Given the description of an element on the screen output the (x, y) to click on. 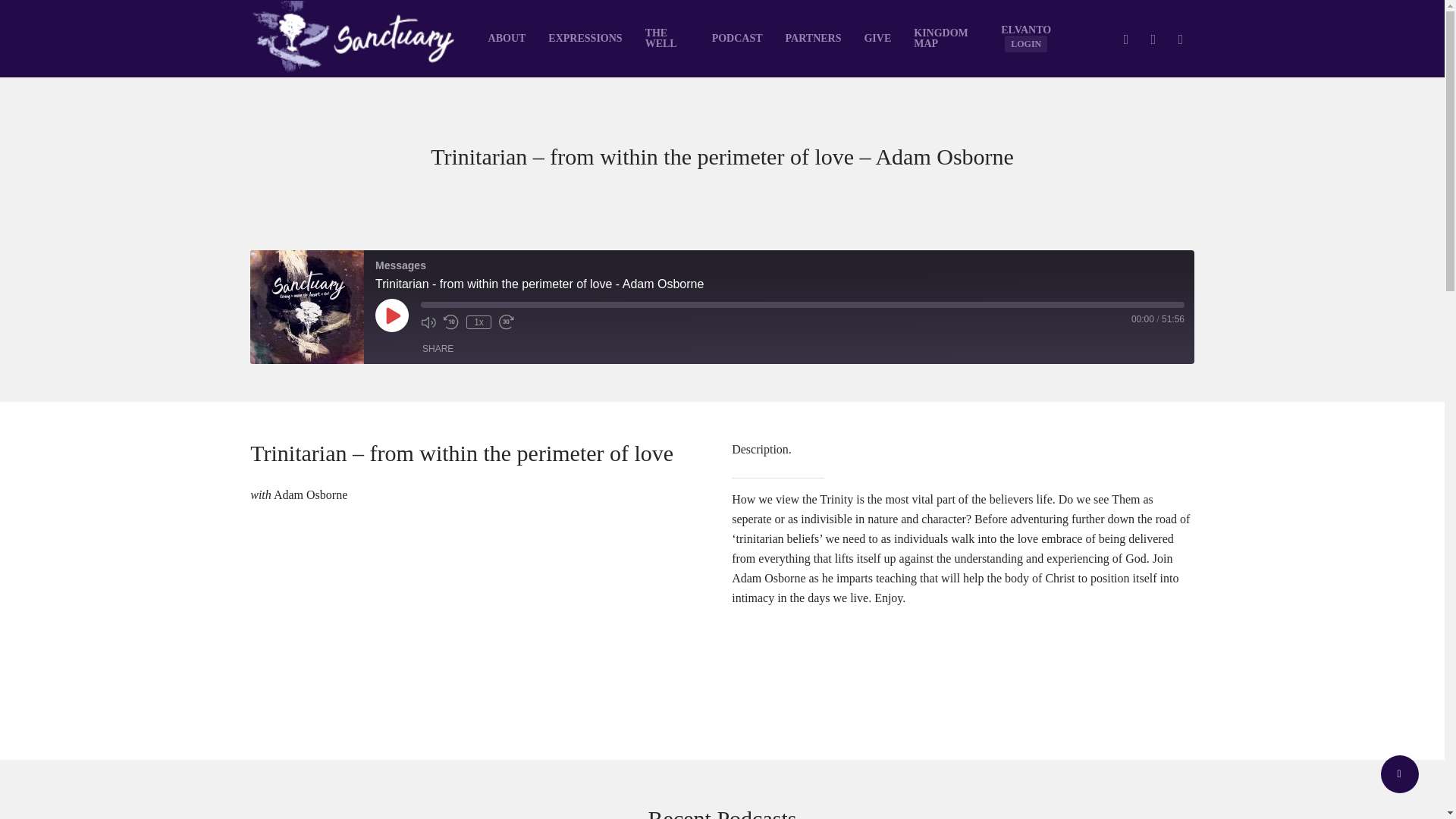
PARTNERS (813, 38)
Fast Forward 30 seconds (506, 322)
Playback Speed (478, 322)
Play Episode (392, 315)
PODCAST (737, 38)
GIVE (876, 38)
YOUTUBE (1153, 38)
Play (392, 315)
Messages (307, 306)
INSTAGRAM (1180, 38)
ABOUT (507, 38)
Rewind 10 seconds (451, 322)
EXPRESSIONS (585, 38)
KINGDOM MAP (946, 38)
FACEBOOK (1126, 38)
